Given the description of an element on the screen output the (x, y) to click on. 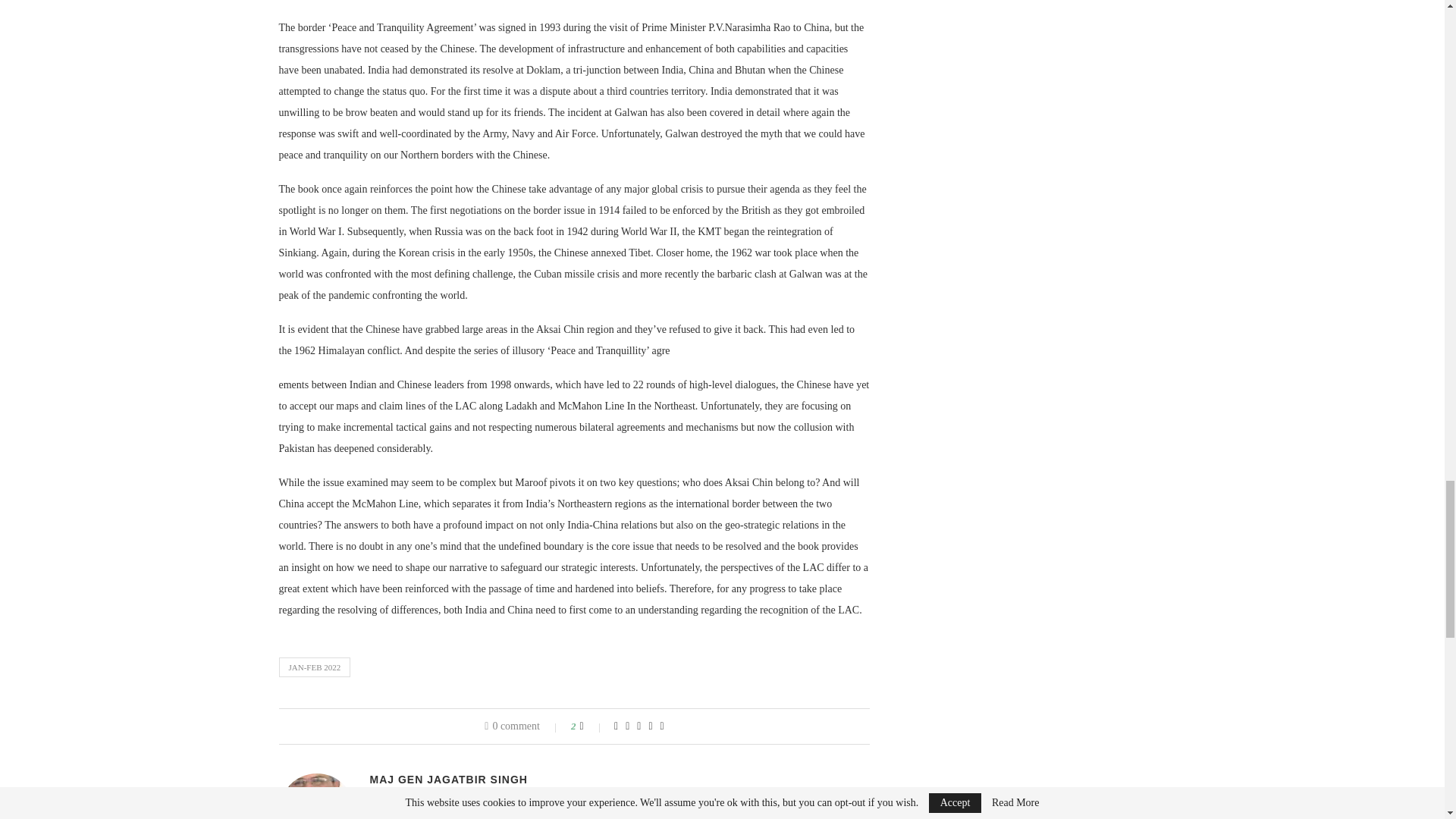
Like (591, 726)
Author Maj Gen Jagatbir Singh (448, 779)
MAJ GEN JAGATBIR SINGH (448, 779)
JAN-FEB 2022 (314, 667)
